Given the description of an element on the screen output the (x, y) to click on. 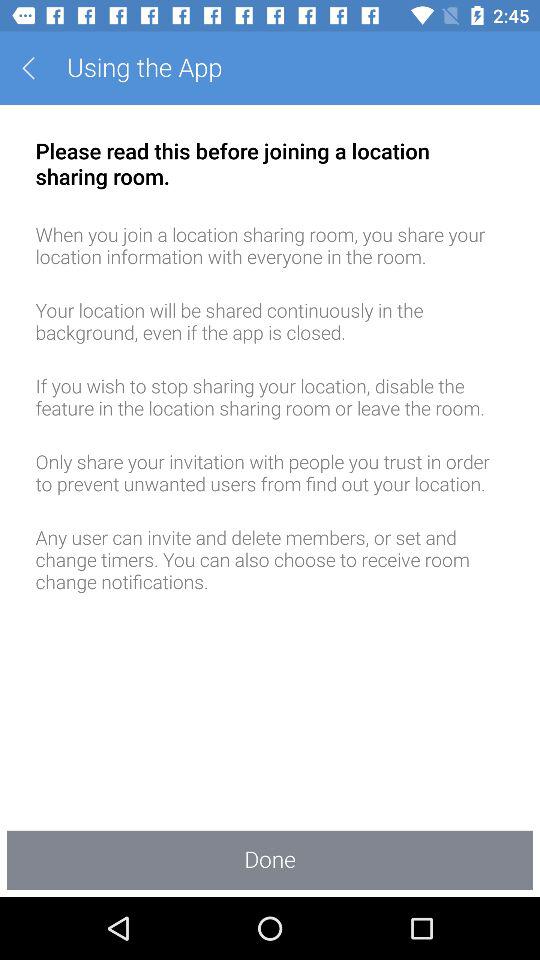
turn on the app above please read this item (35, 67)
